Given the description of an element on the screen output the (x, y) to click on. 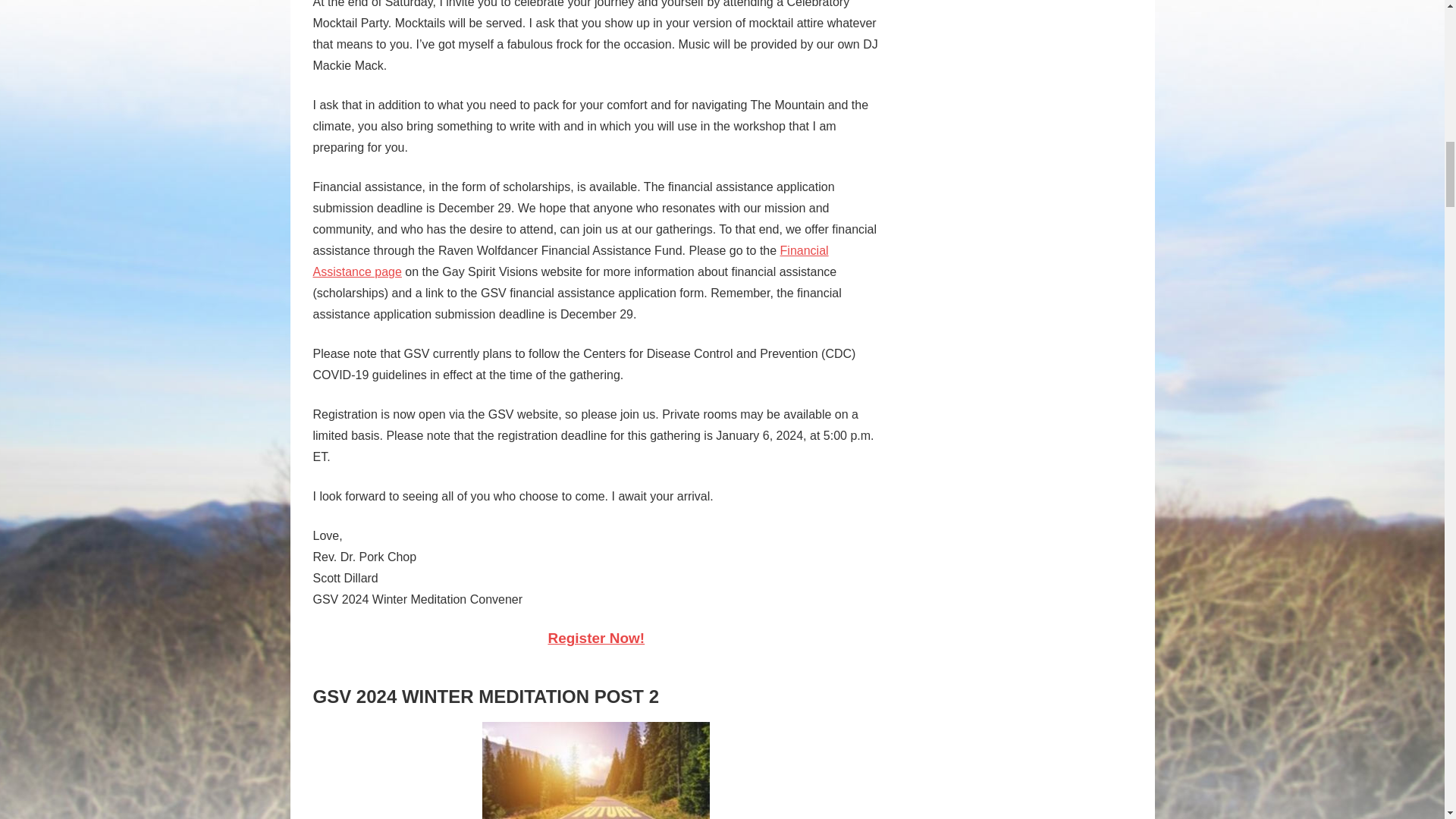
Register Now! (596, 637)
GSV 2024 WINTER MEDITATION POST 2 (486, 696)
Financial Assistance page (570, 261)
